Given the description of an element on the screen output the (x, y) to click on. 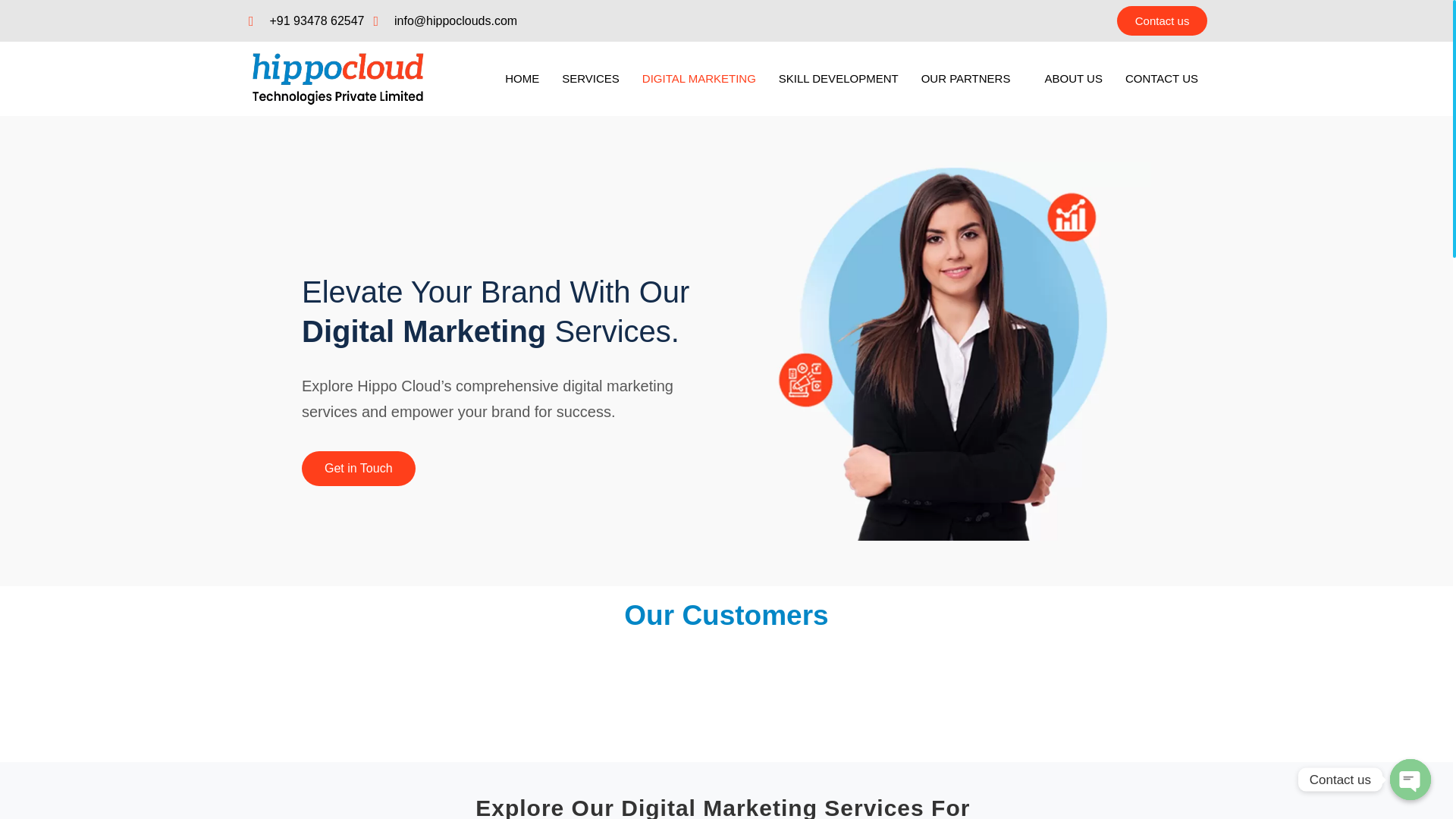
DIGITAL MARKETING (698, 78)
CONTACT US (1161, 78)
OUR PARTNERS (971, 78)
HOME (521, 78)
Contact us (1162, 20)
Get in Touch (357, 468)
ABOUT US (1072, 78)
SERVICES (590, 78)
SKILL DEVELOPMENT (838, 78)
